Given the description of an element on the screen output the (x, y) to click on. 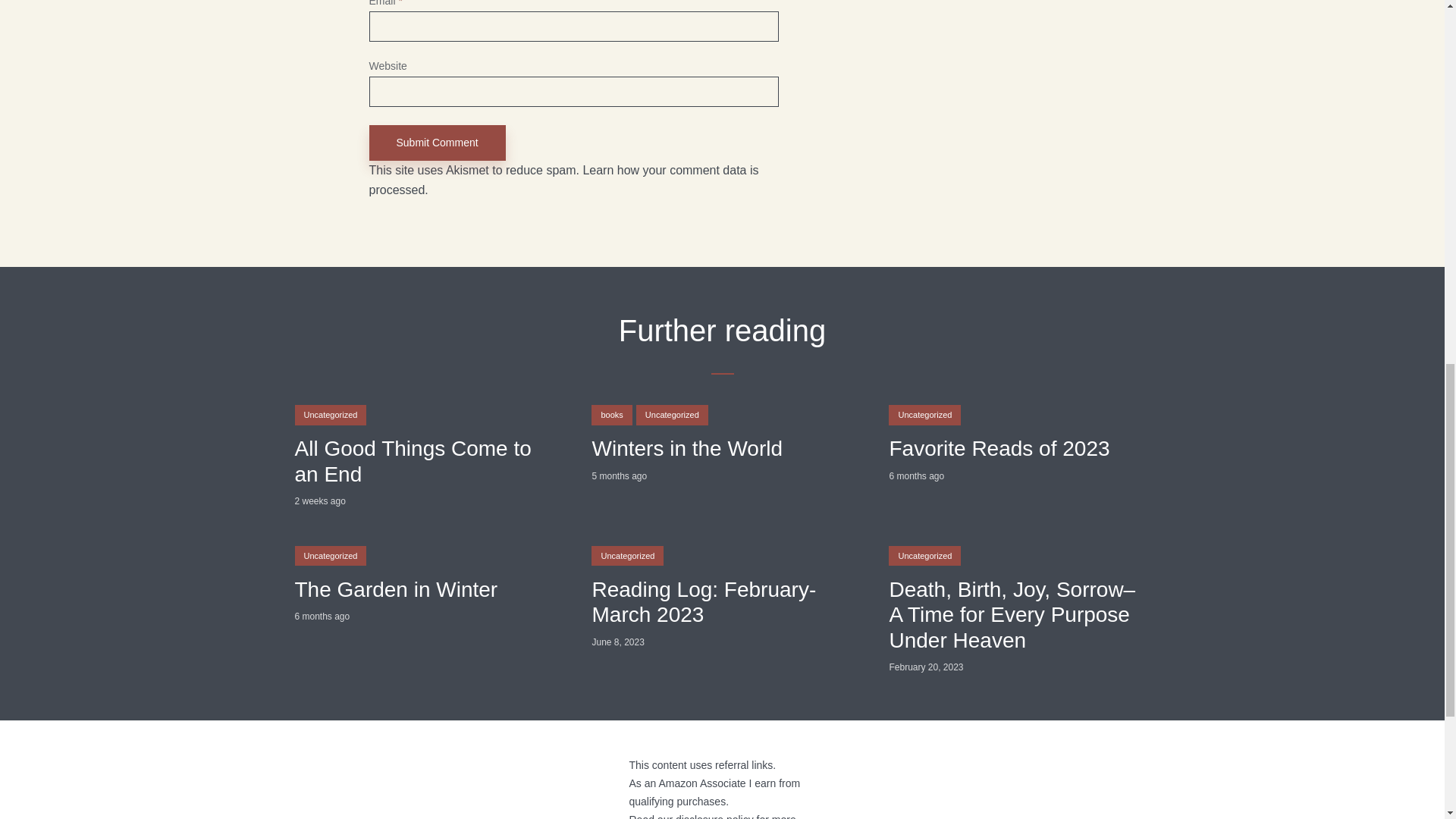
Learn how your comment data is processed (563, 179)
Uncategorized (330, 414)
Reading Log: February-March 2023 (721, 601)
Uncategorized (924, 414)
The Garden in Winter (424, 588)
Winters in the World (721, 448)
Uncategorized (627, 555)
Submit Comment (436, 142)
books (611, 414)
Uncategorized (330, 555)
All Good Things Come to an End (424, 460)
Uncategorized (671, 414)
Submit Comment (436, 142)
Favorite Reads of 2023 (1019, 448)
